Given the description of an element on the screen output the (x, y) to click on. 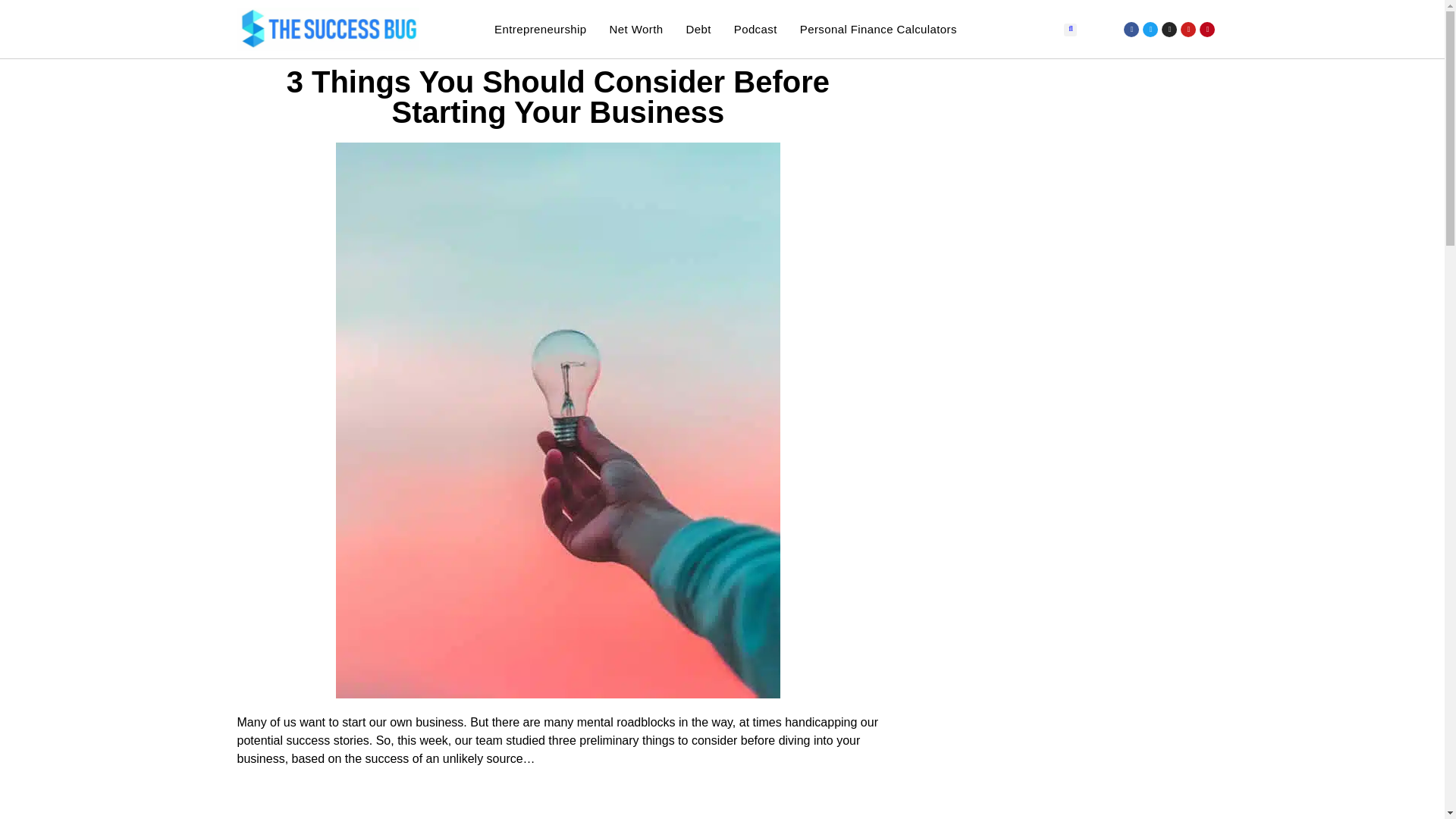
Podcast (755, 29)
Net Worth (636, 29)
Personal Finance Calculators (877, 29)
Debt (697, 29)
Entrepreneurship (540, 29)
